Given the description of an element on the screen output the (x, y) to click on. 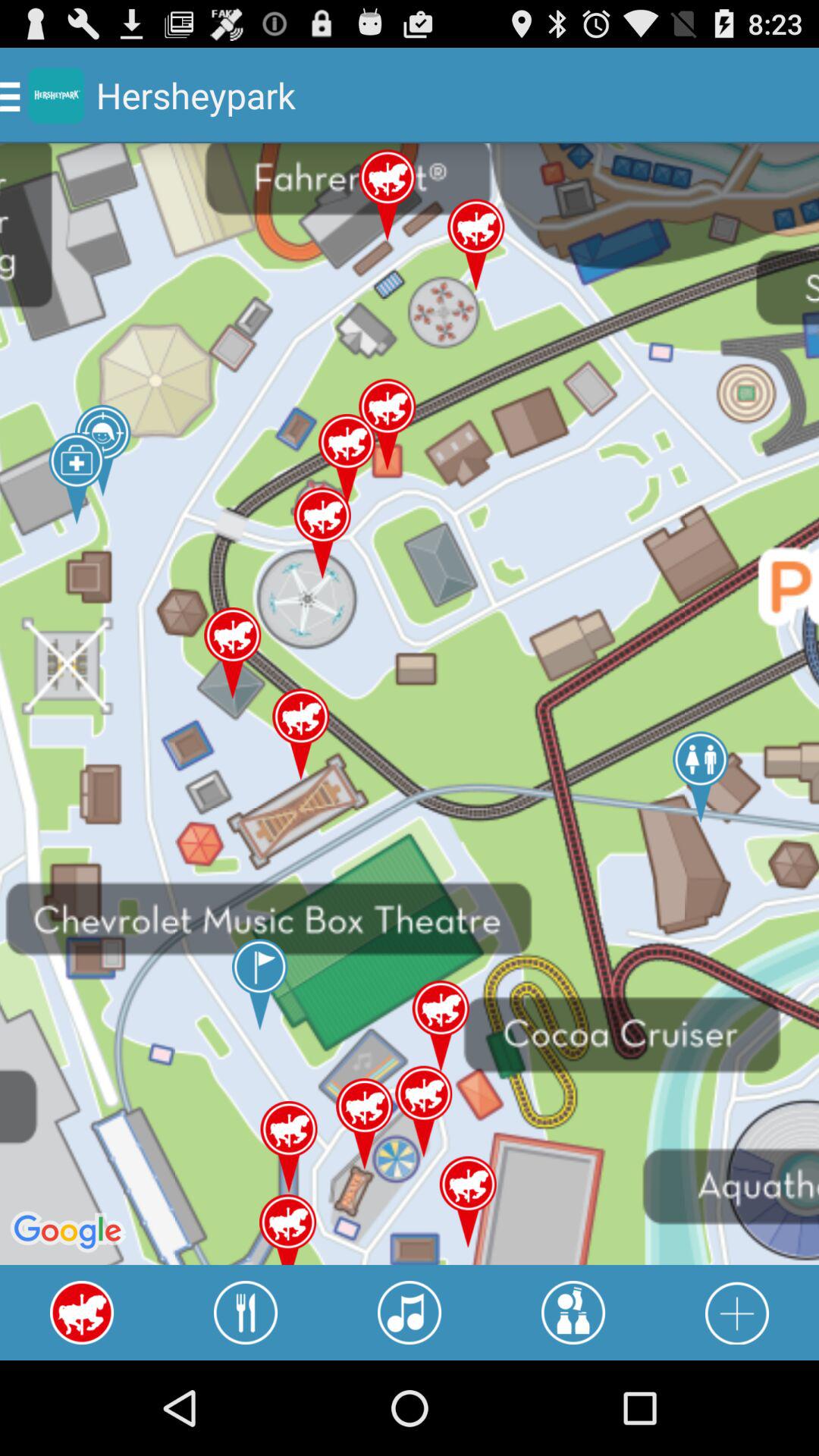
turn sound off or on (409, 1312)
